Given the description of an element on the screen output the (x, y) to click on. 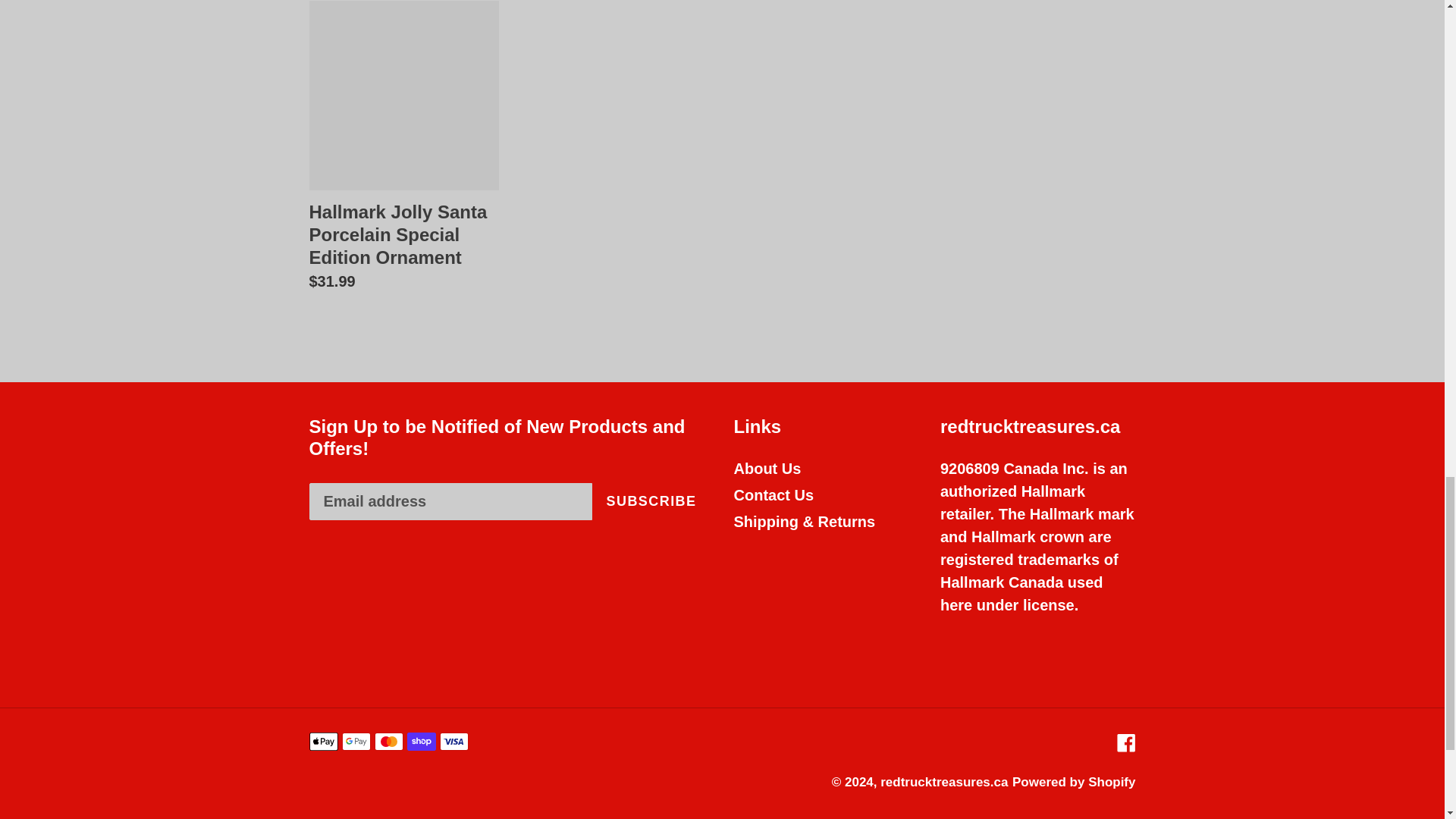
About Us (767, 468)
SUBSCRIBE (650, 501)
redtrucktreasures.ca (943, 781)
Powered by Shopify (1073, 781)
Contact Us (773, 494)
